Given the description of an element on the screen output the (x, y) to click on. 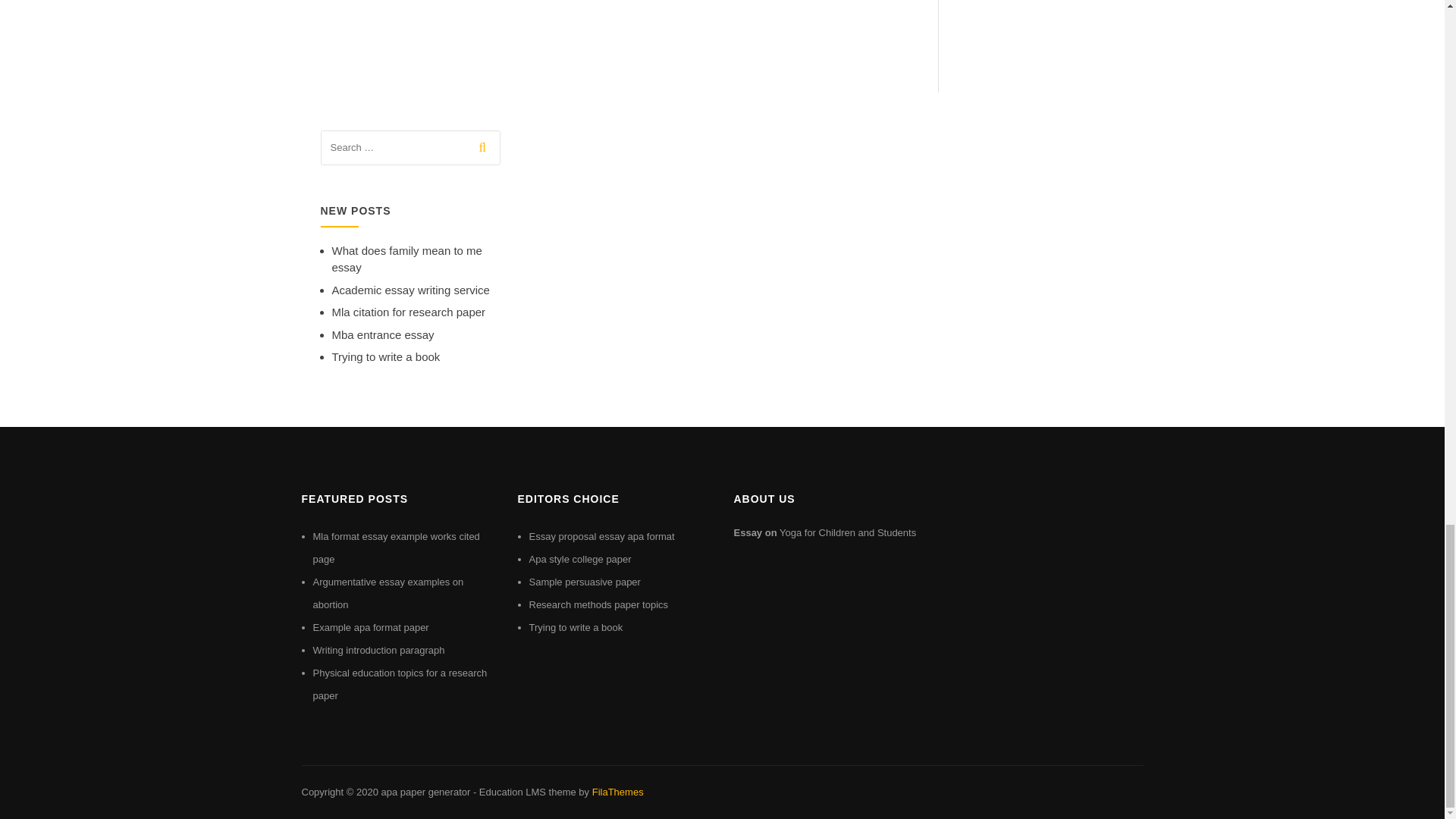
What does family mean to me essay (406, 259)
Mla format essay example works cited page (396, 547)
Writing introduction paragraph (378, 650)
Sample persuasive paper (584, 582)
Mba entrance essay (382, 334)
Academic essay writing service (410, 289)
Apa style college paper (580, 559)
apa paper generator (425, 791)
Research methods paper topics (598, 604)
Trying to write a book (386, 356)
Trying to write a book (576, 627)
apa paper generator (425, 791)
Example apa format paper (370, 627)
Mla citation for research paper (408, 311)
Essay proposal essay apa format (602, 536)
